Given the description of an element on the screen output the (x, y) to click on. 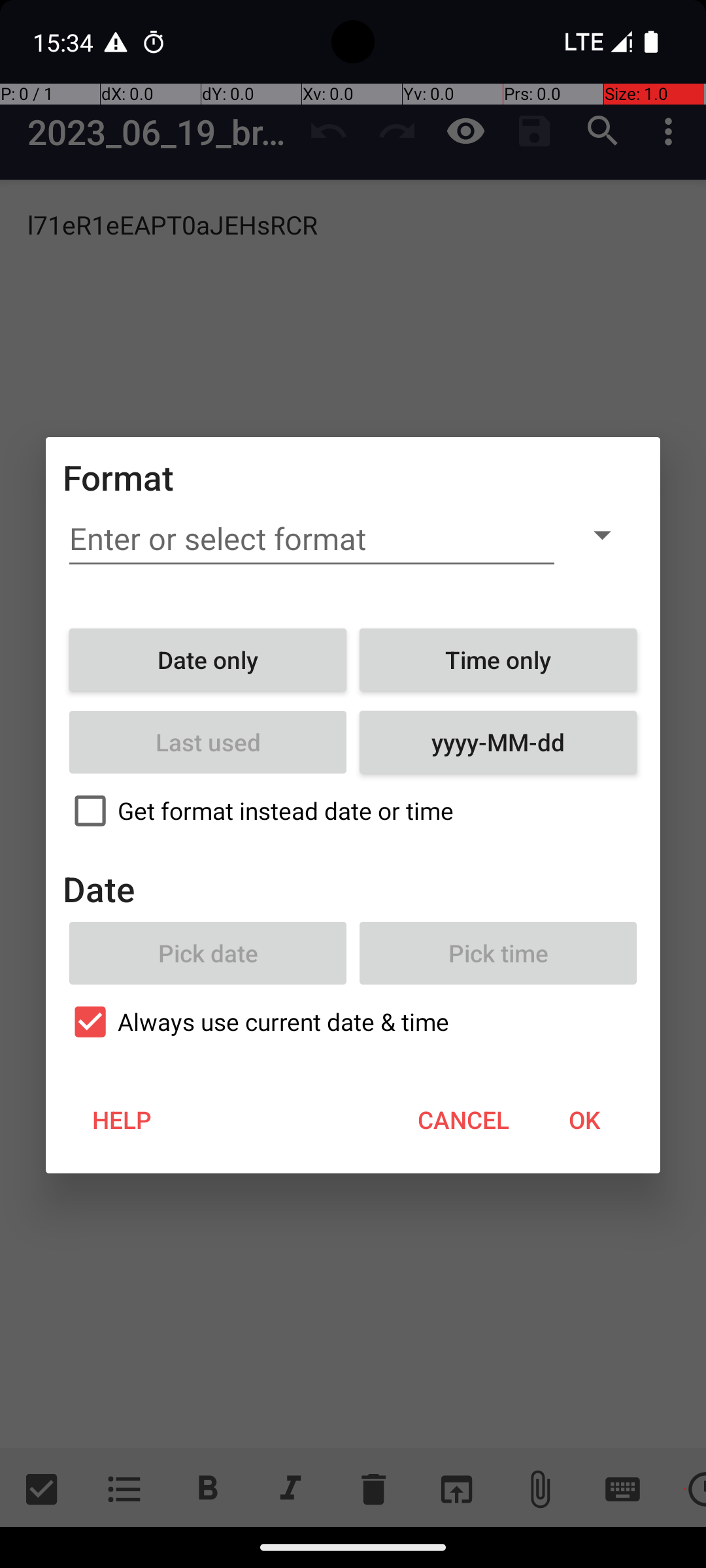
Format Element type: android.widget.TextView (118, 477)
Enter or select format Element type: android.widget.EditText (311, 538)
Choose format Element type: android.widget.TextView (601, 534)
Date only Element type: android.widget.Button (207, 659)
Time only Element type: android.widget.Button (498, 659)
Last used Element type: android.widget.Button (207, 742)
yyyy-MM-dd Element type: android.widget.Button (498, 742)
Get format instead date or time Element type: android.widget.CheckBox (352, 810)
Pick date Element type: android.widget.Button (207, 953)
Pick time Element type: android.widget.Button (498, 953)
Always use current date & time Element type: android.widget.CheckBox (352, 1021)
HELP Element type: android.widget.Button (121, 1119)
